Given the description of an element on the screen output the (x, y) to click on. 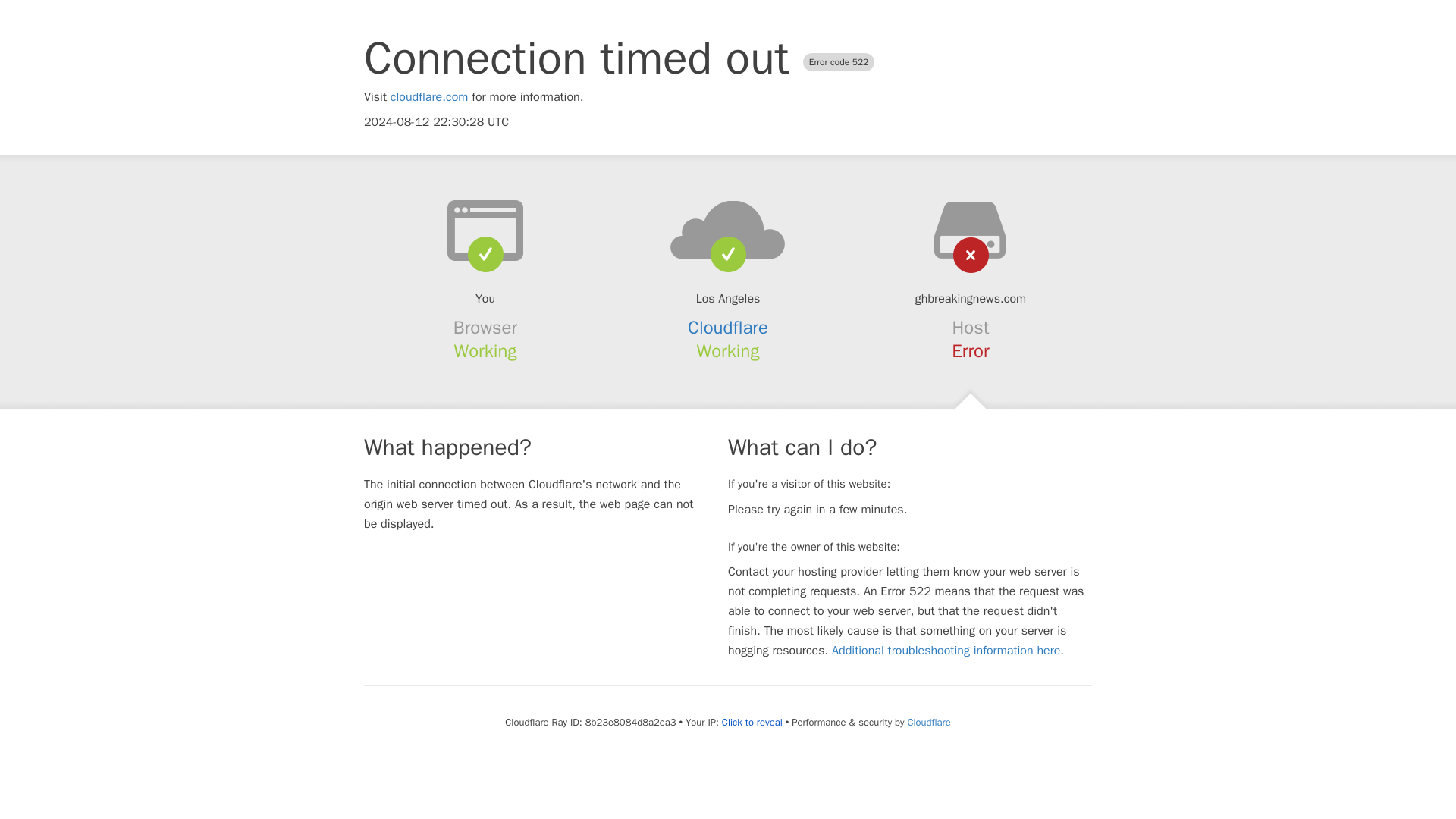
Cloudflare (928, 721)
Cloudflare (727, 327)
Click to reveal (752, 722)
Additional troubleshooting information here. (947, 650)
cloudflare.com (429, 96)
